Given the description of an element on the screen output the (x, y) to click on. 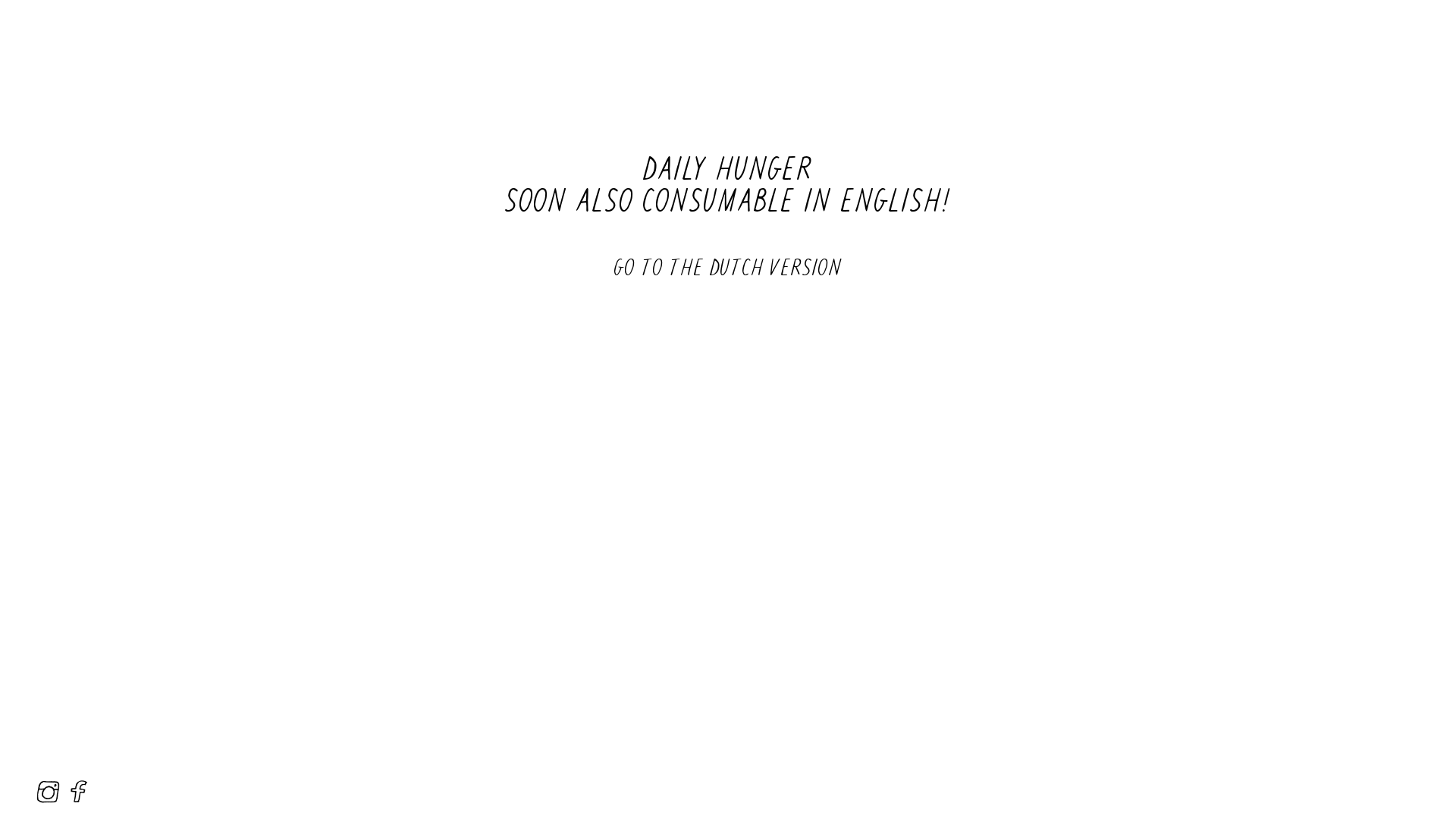
go to the dutch version Element type: text (728, 266)
